Given the description of an element on the screen output the (x, y) to click on. 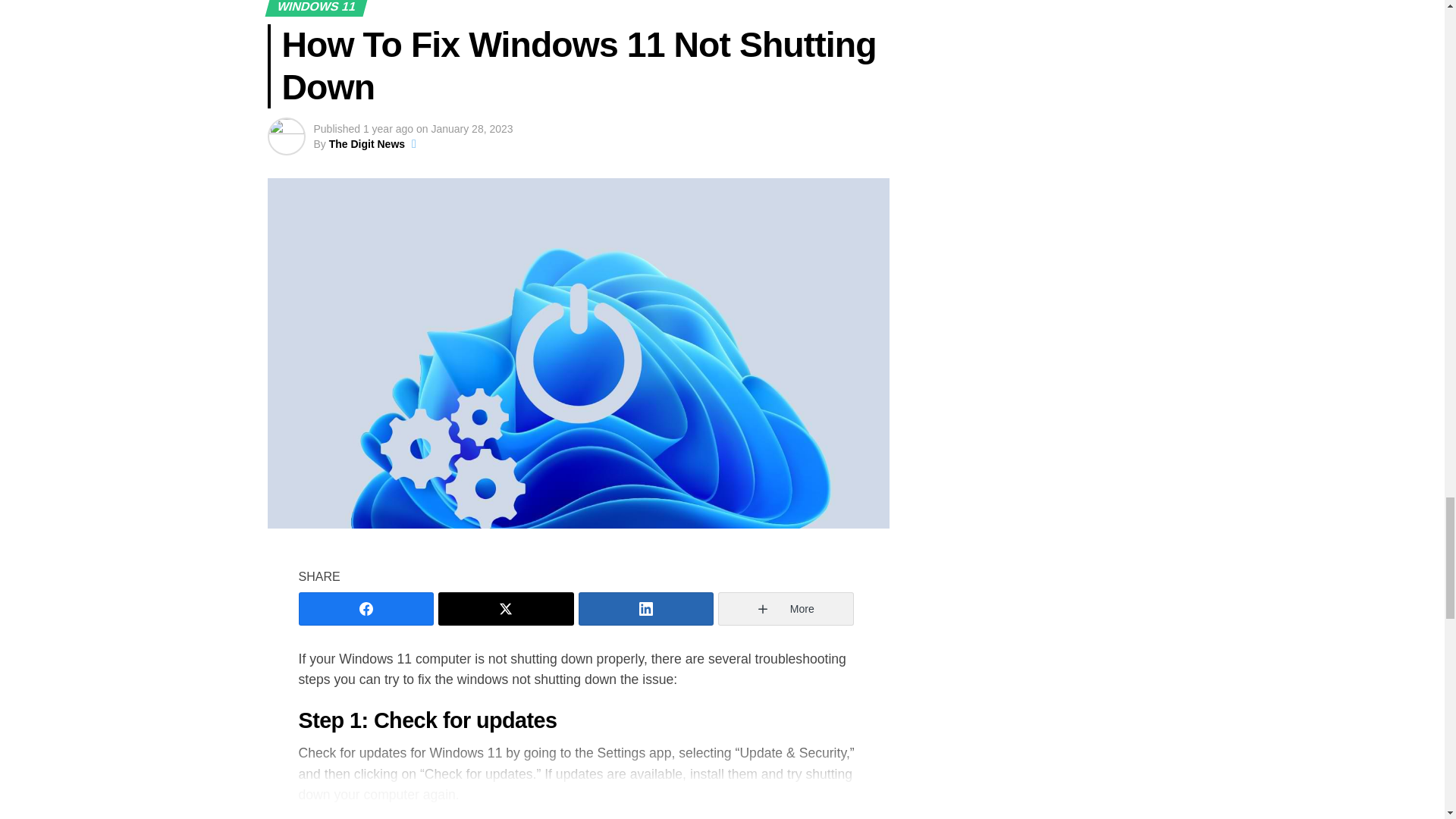
Posts by The Digit News (366, 143)
